Given the description of an element on the screen output the (x, y) to click on. 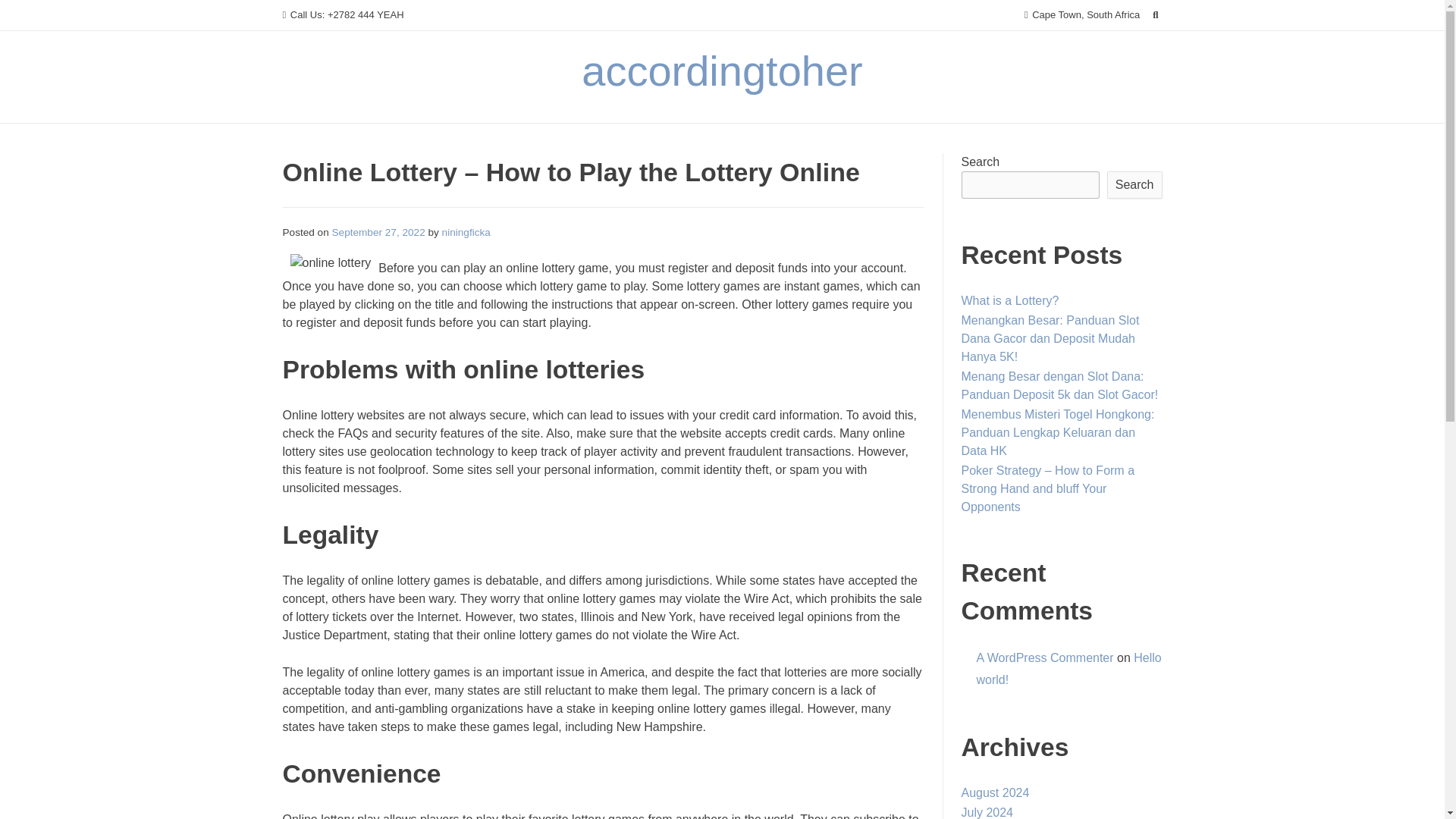
Search (1133, 185)
July 2024 (986, 812)
What is a Lottery? (1009, 300)
accordingtoher (720, 70)
September 27, 2022 (378, 232)
Search (27, 13)
Hello world! (1068, 668)
